Given the description of an element on the screen output the (x, y) to click on. 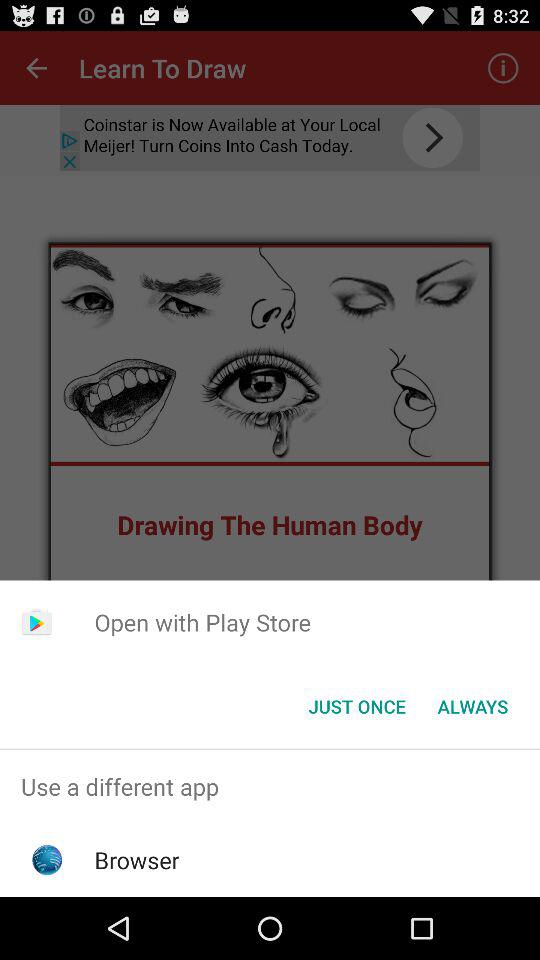
click button at the bottom right corner (472, 706)
